Given the description of an element on the screen output the (x, y) to click on. 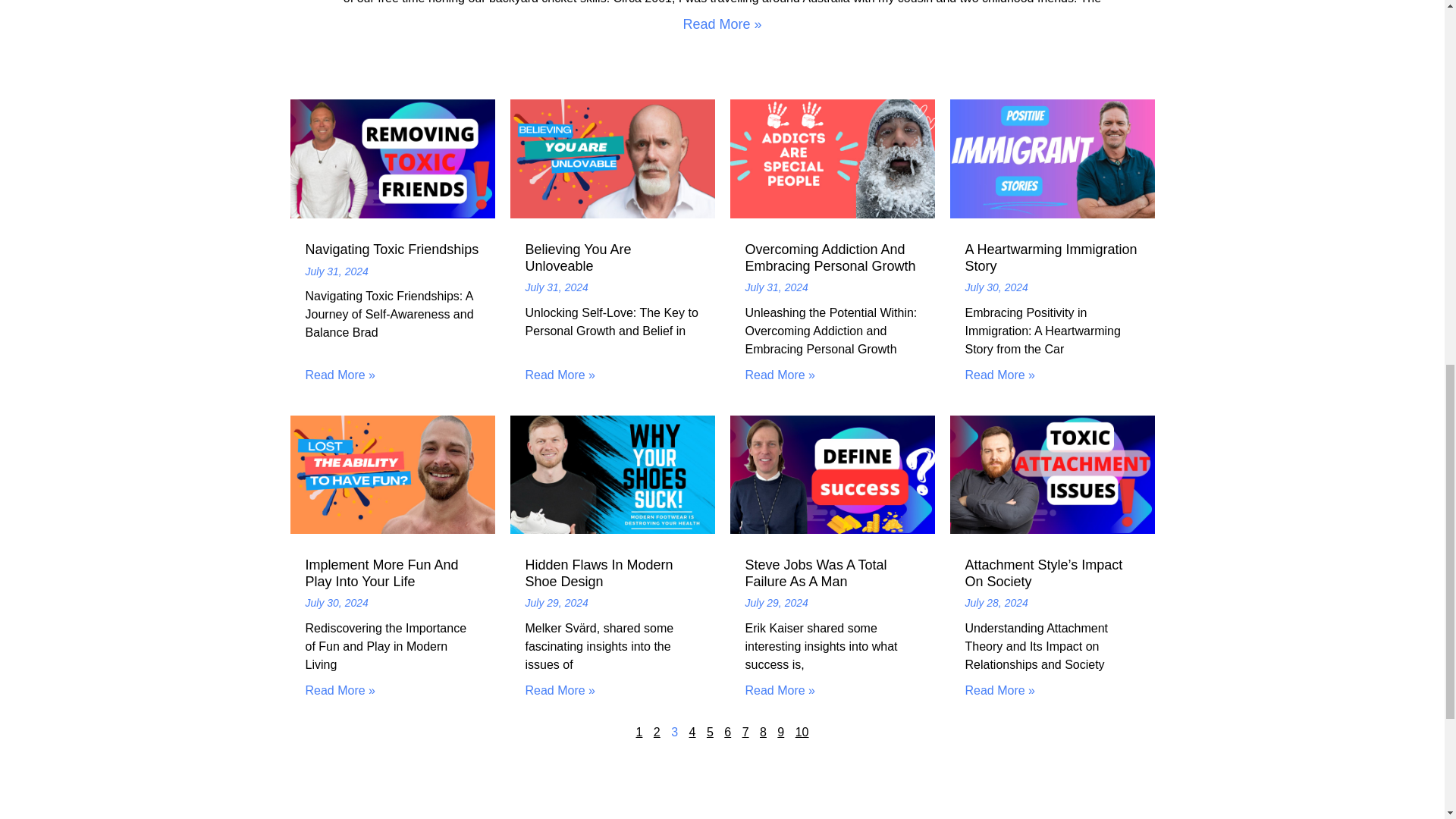
Navigating Toxic Friendships (391, 249)
Overcoming Addiction And Embracing Personal Growth (829, 257)
Implement More Fun And Play Into Your Life (381, 572)
Believing You Are Unloveable (577, 257)
A Heartwarming Immigration Story (1050, 257)
